Given the description of an element on the screen output the (x, y) to click on. 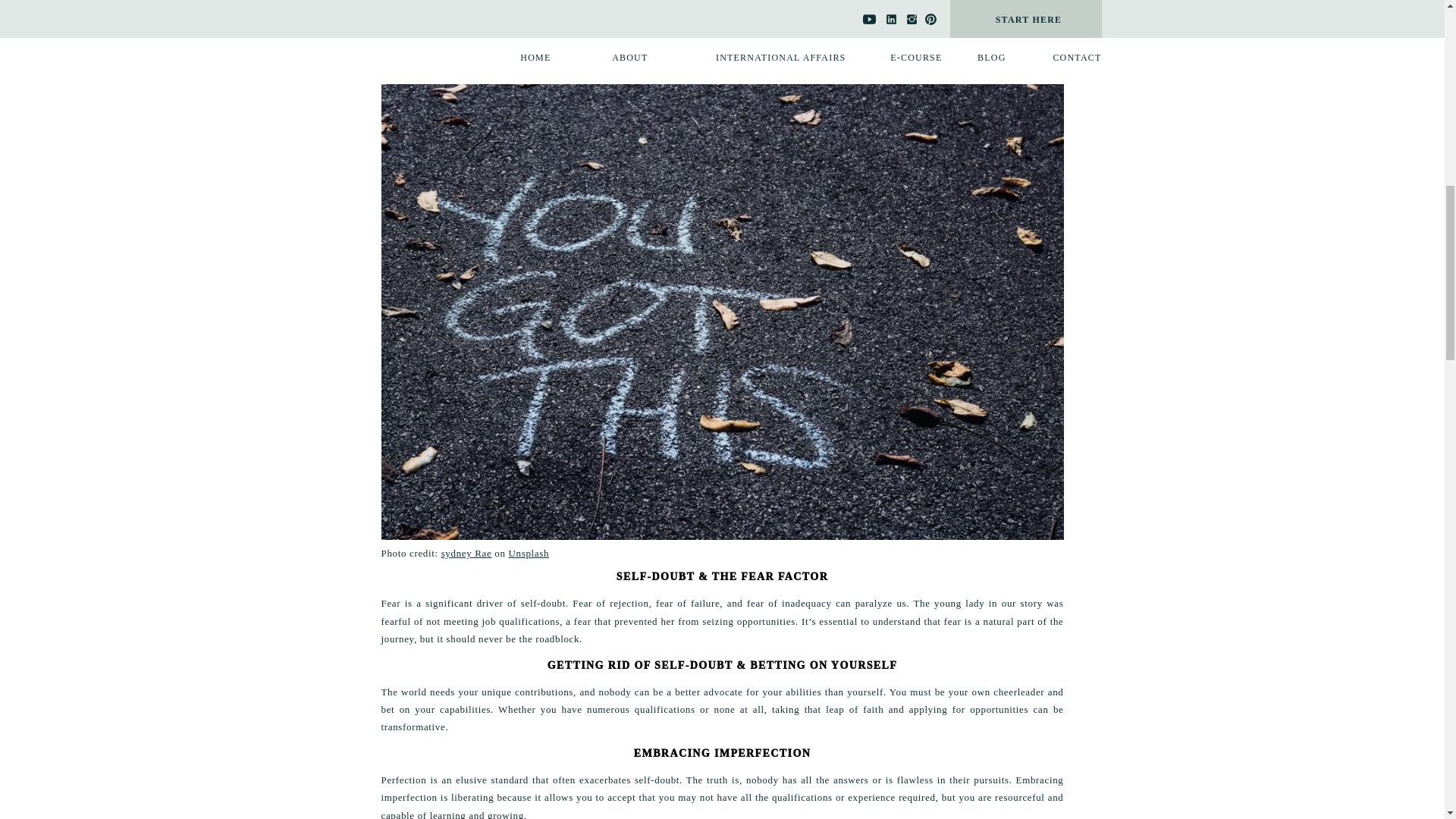
Unsplash (529, 552)
sydney Rae (466, 552)
